Given the description of an element on the screen output the (x, y) to click on. 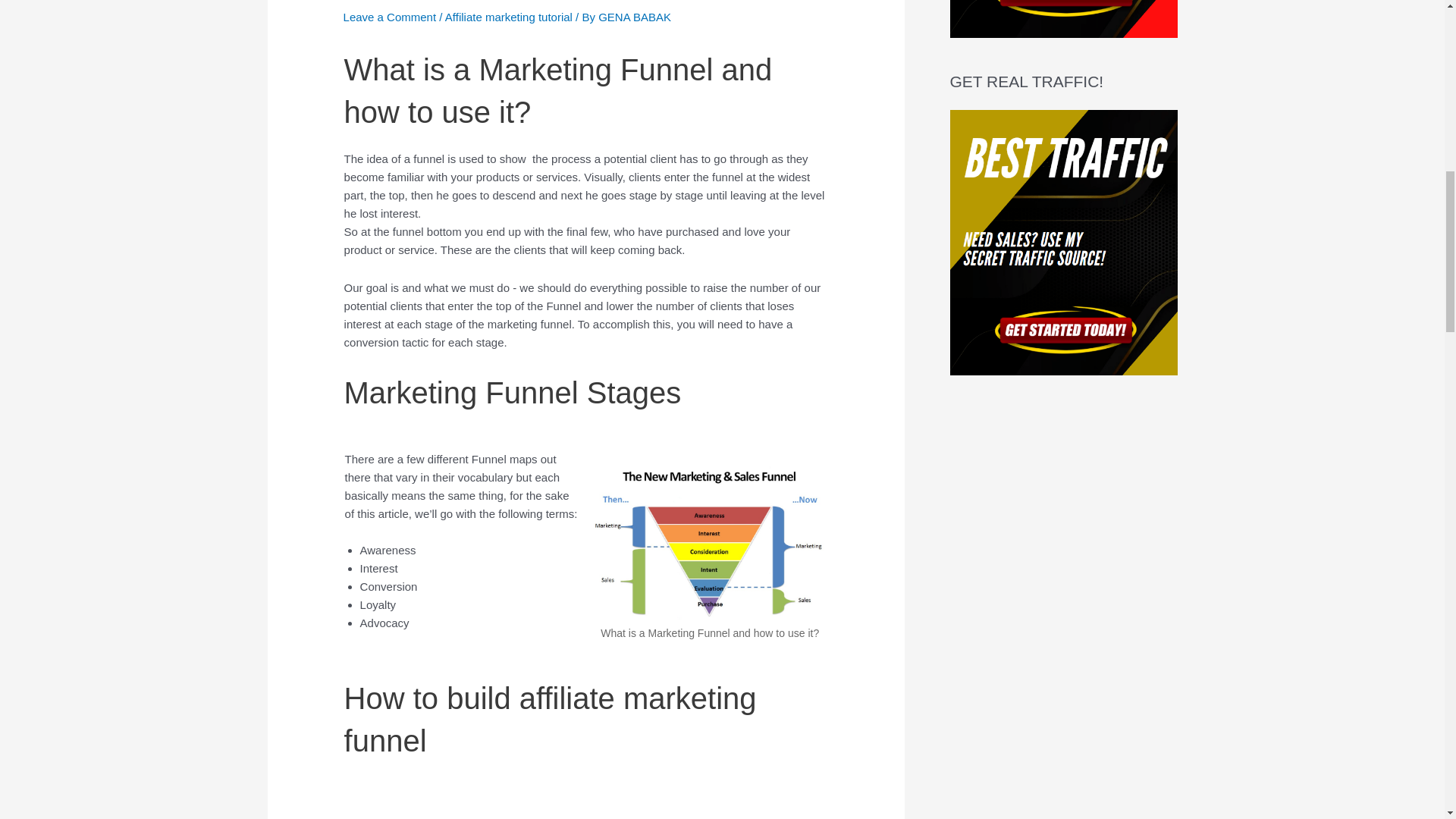
What is a Marketing Funnel and how to use it? (709, 541)
Affiliate marketing tutorial (508, 16)
GENA BABAK (634, 16)
View all posts by GENA BABAK (634, 16)
Leave a Comment (389, 16)
